Given the description of an element on the screen output the (x, y) to click on. 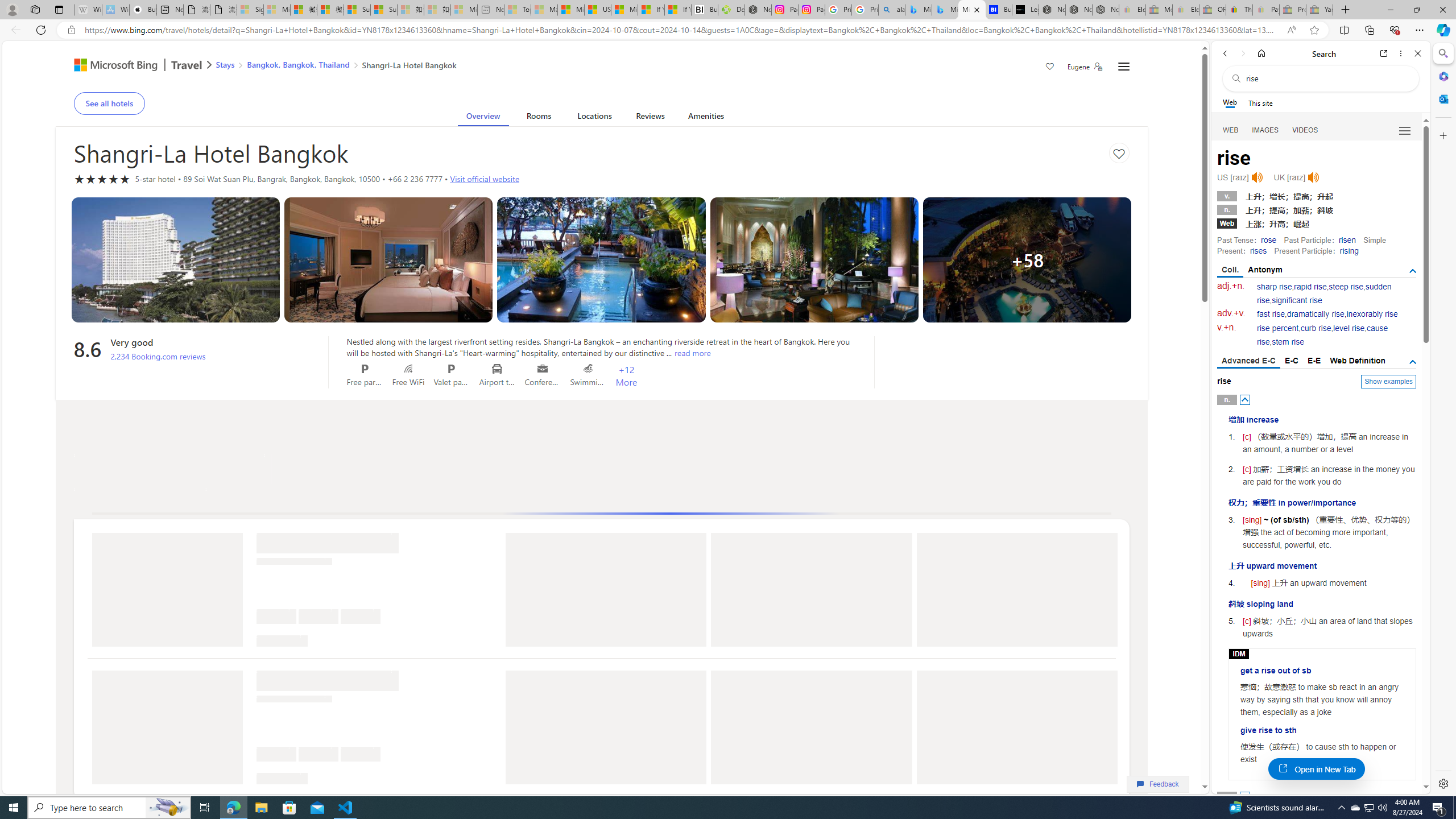
Top Stories - MSN - Sleeping (517, 9)
Microsoft Bing Travel - Flights from Hong Kong to Bangkok (917, 9)
AutomationID: tgsb (1412, 270)
Rooms (538, 118)
WEB (1231, 130)
curb rise (1315, 328)
